Given the description of an element on the screen output the (x, y) to click on. 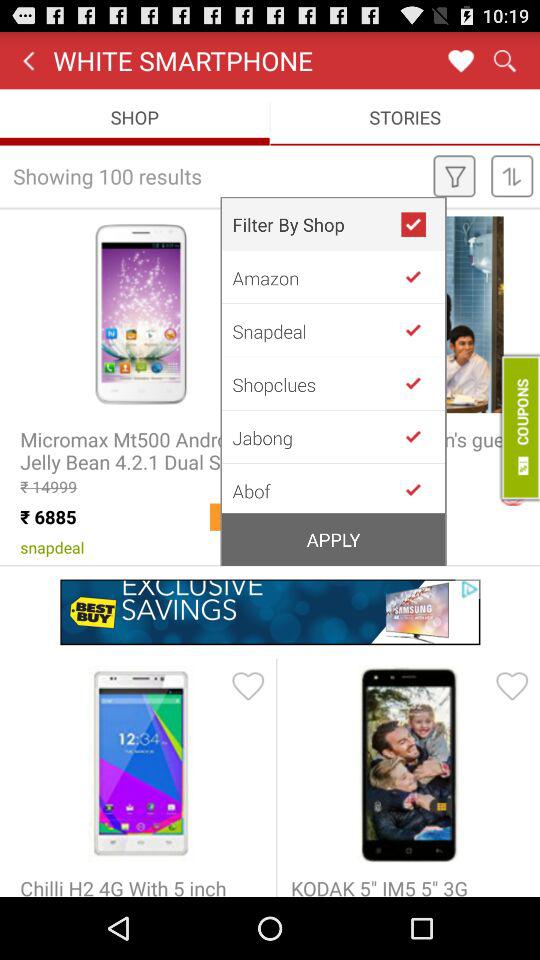
select button (421, 383)
